Given the description of an element on the screen output the (x, y) to click on. 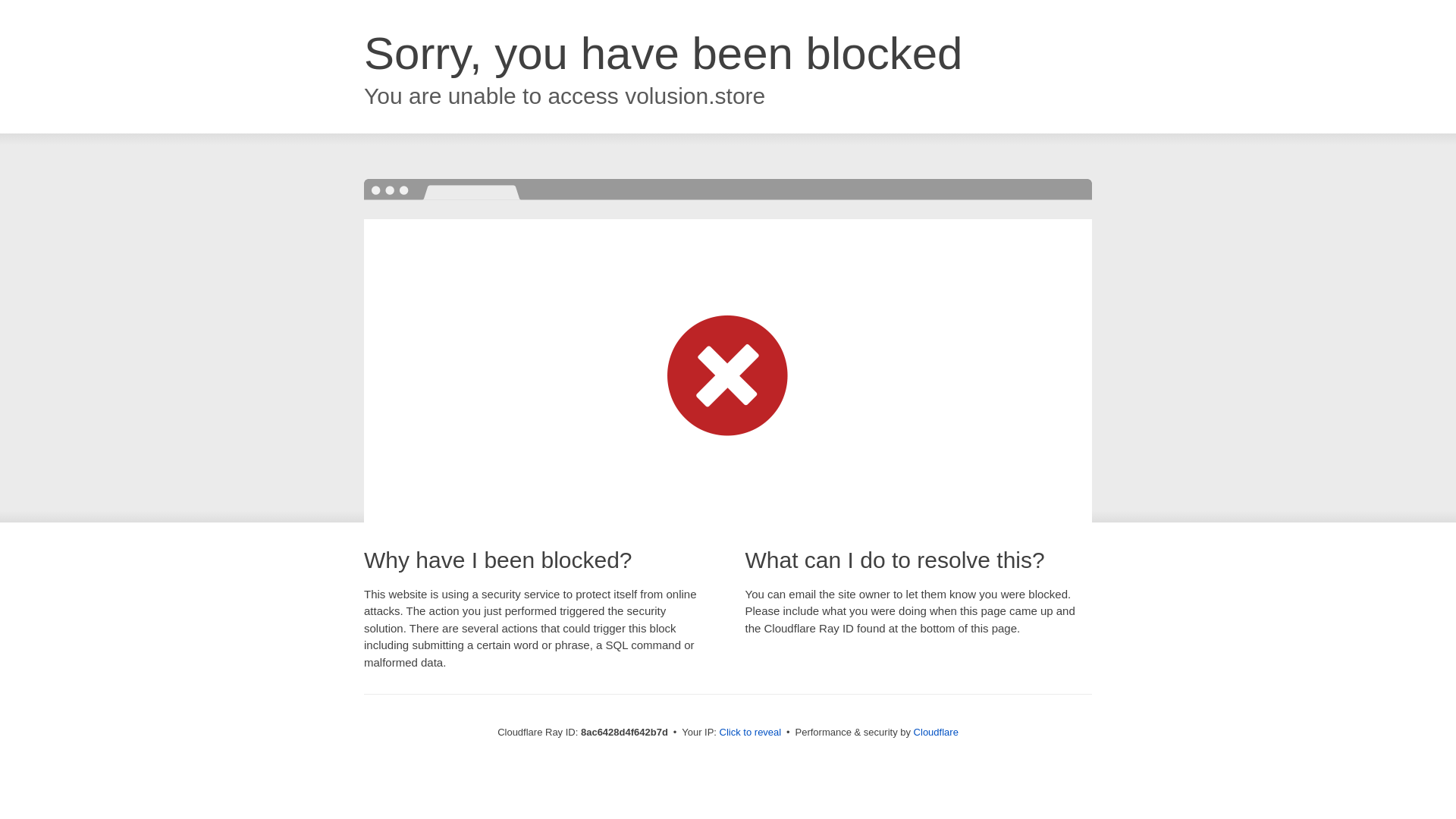
Cloudflare (936, 731)
Click to reveal (750, 732)
